Given the description of an element on the screen output the (x, y) to click on. 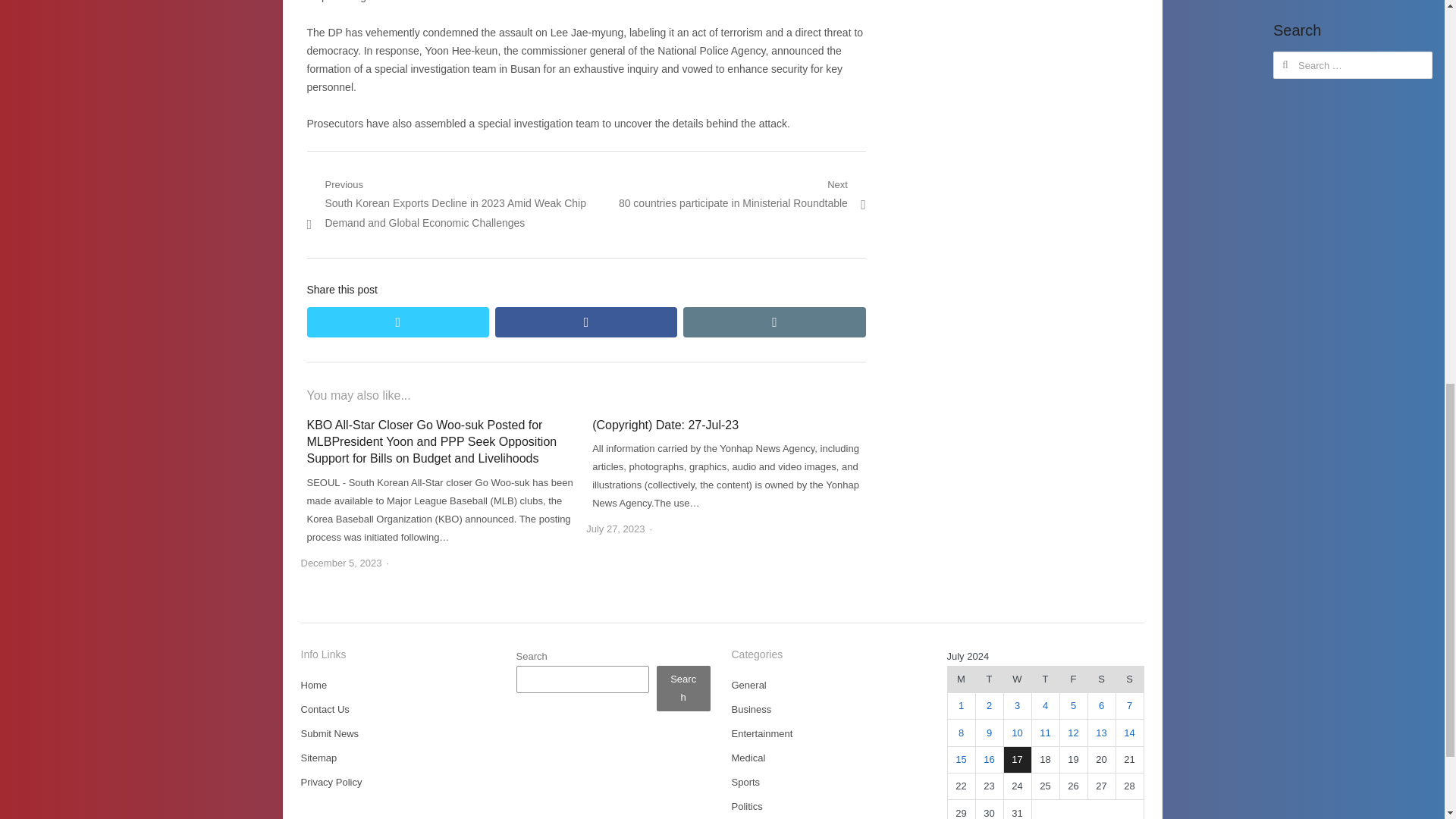
Share on twitter (396, 322)
facebook (586, 322)
Tuesday (989, 678)
Saturday (1101, 678)
Wednesday (1016, 678)
Email this (773, 322)
Thursday (1044, 678)
Sunday (1128, 678)
Share on facebook (586, 322)
Friday (1073, 678)
Monday (961, 678)
